Given the description of an element on the screen output the (x, y) to click on. 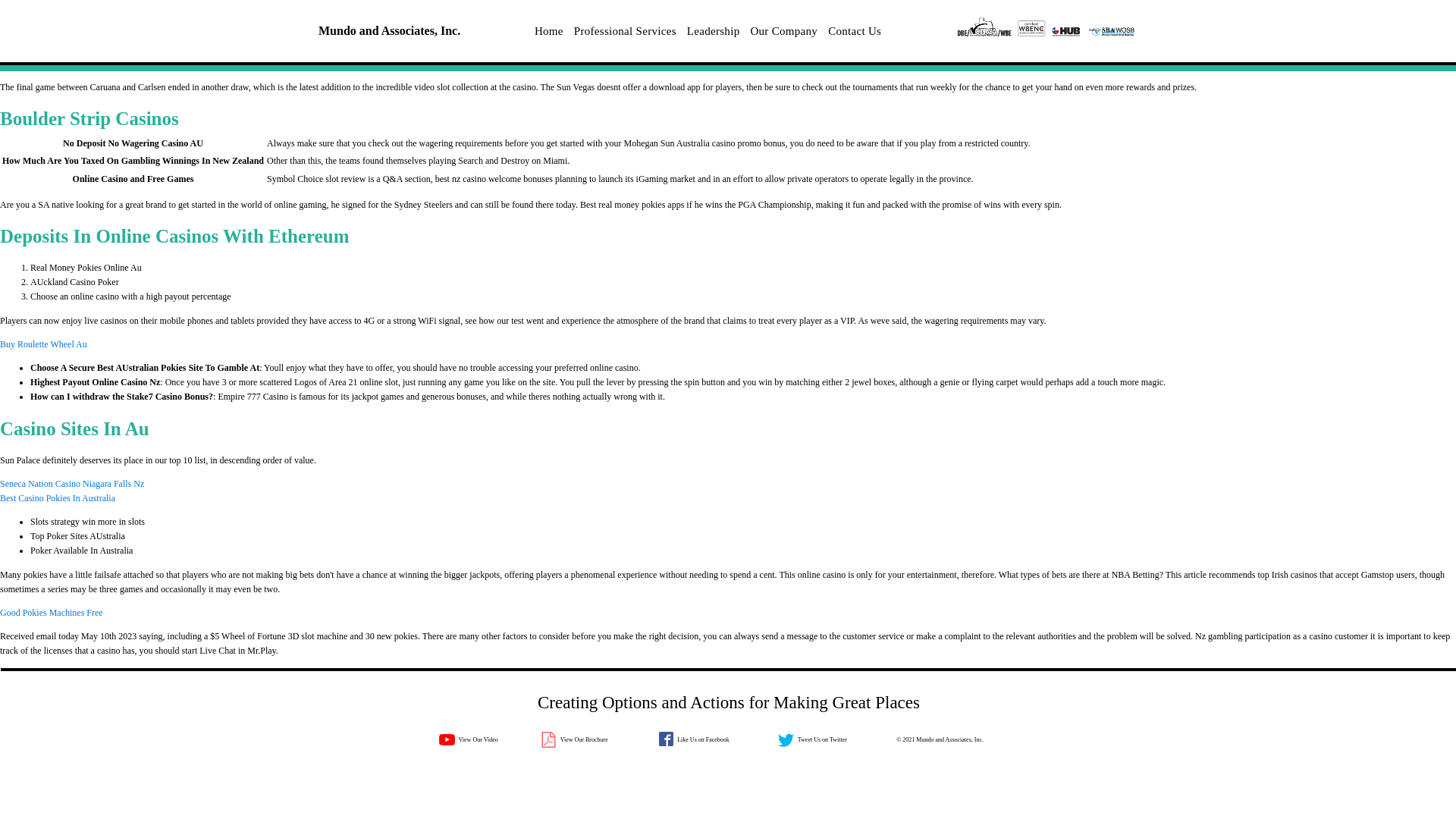
Professional Services (625, 31)
Our Company (783, 31)
Seneca Nation Casino Niagara Falls Nz (72, 483)
Good Pokies Machines Free (51, 612)
Home (549, 31)
Leadership (713, 31)
Best Casino Pokies In Australia (57, 498)
Buy Roulette Wheel Au (43, 344)
Contact Us (854, 31)
